Given the description of an element on the screen output the (x, y) to click on. 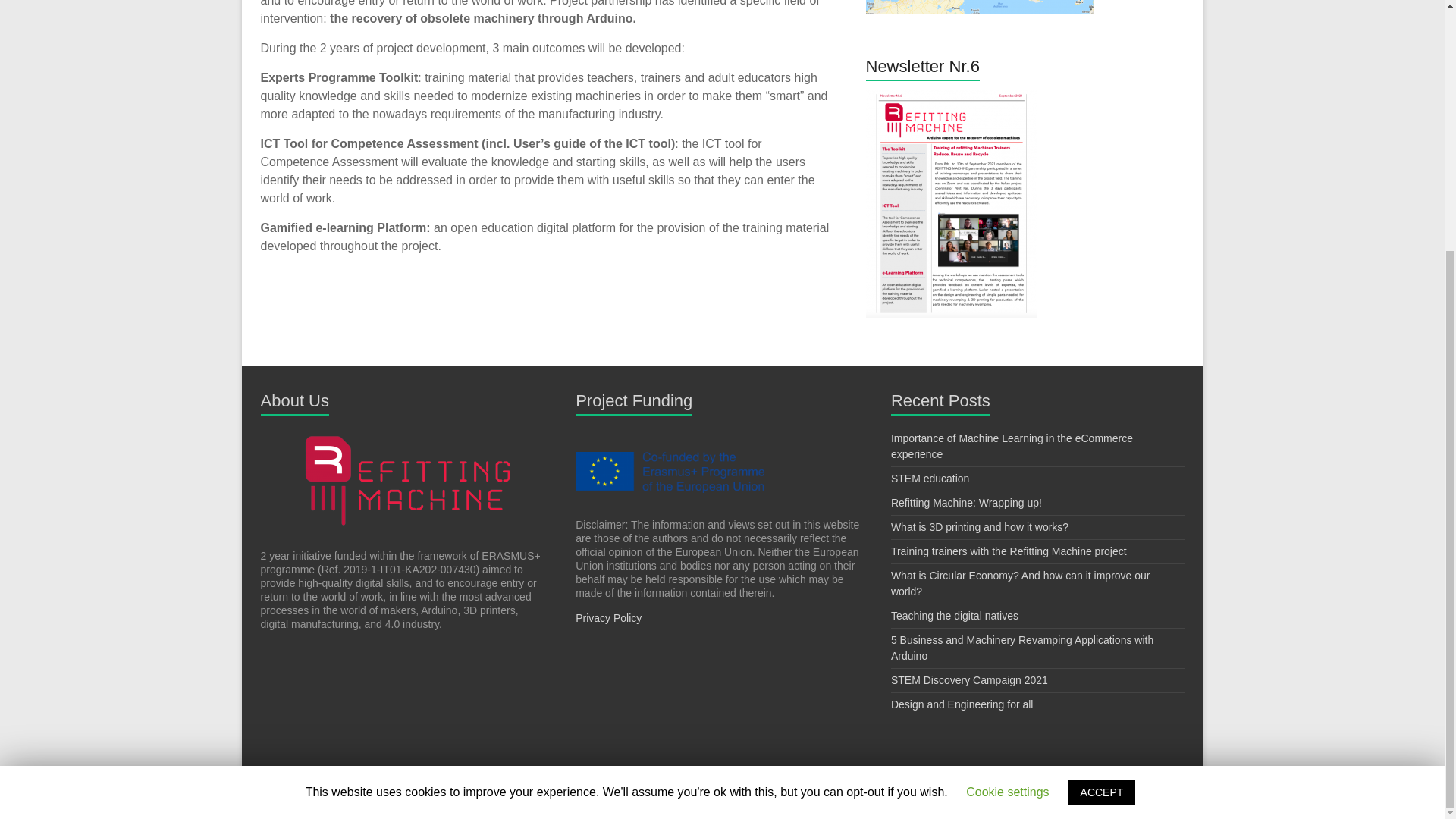
Cookie settings (1007, 440)
ThemeGrill (639, 781)
Design and Engineering for all (962, 704)
5 Business and Machinery Revamping Applications with Arduino (1022, 647)
What is 3D printing and how it works? (979, 526)
Training trainers with the Refitting Machine project (1008, 551)
REFITTING MACHINE (379, 781)
What is Circular Economy? And how can it improve our world? (1020, 583)
Refitting Machine: Wrapping up! (966, 502)
Importance of Machine Learning in the eCommerce experience (1011, 446)
STEM Discovery Campaign 2021 (969, 680)
WordPress (504, 781)
ACCEPT (1101, 440)
Privacy Policy (608, 617)
Teaching the digital natives (954, 615)
